Given the description of an element on the screen output the (x, y) to click on. 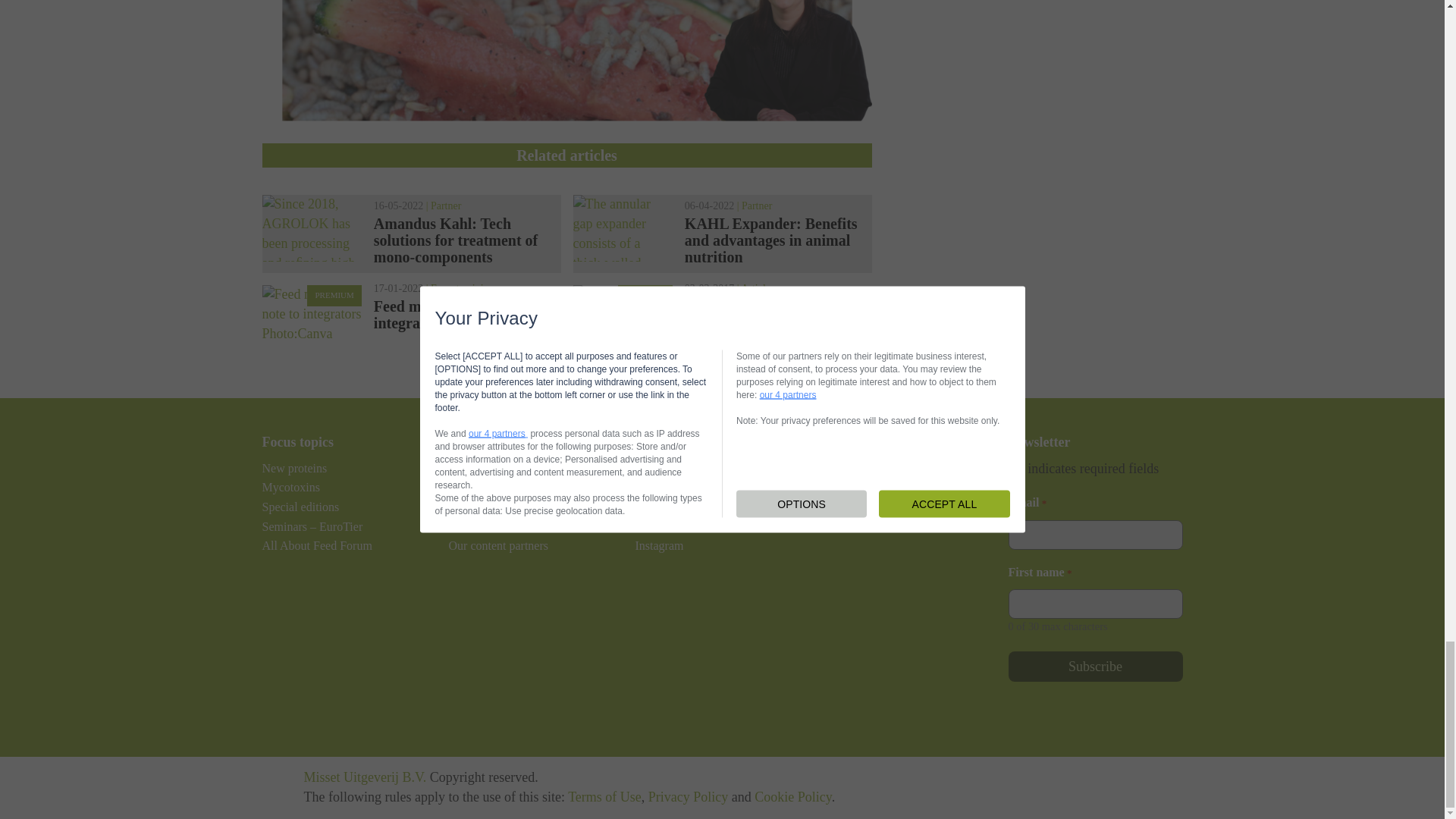
Subscribe (1095, 666)
